Given the description of an element on the screen output the (x, y) to click on. 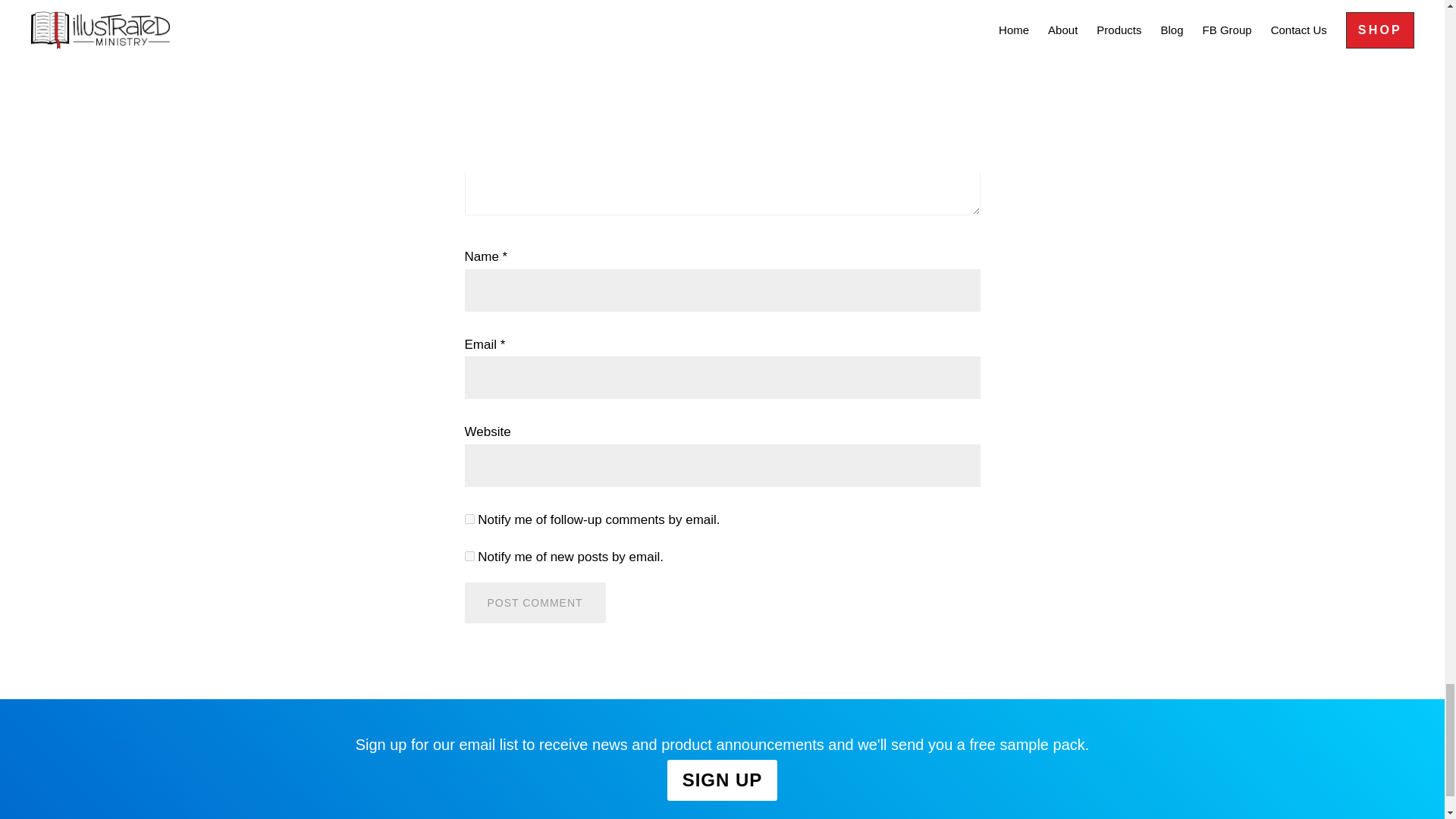
subscribe (469, 556)
subscribe (469, 519)
Post Comment (534, 602)
